Given the description of an element on the screen output the (x, y) to click on. 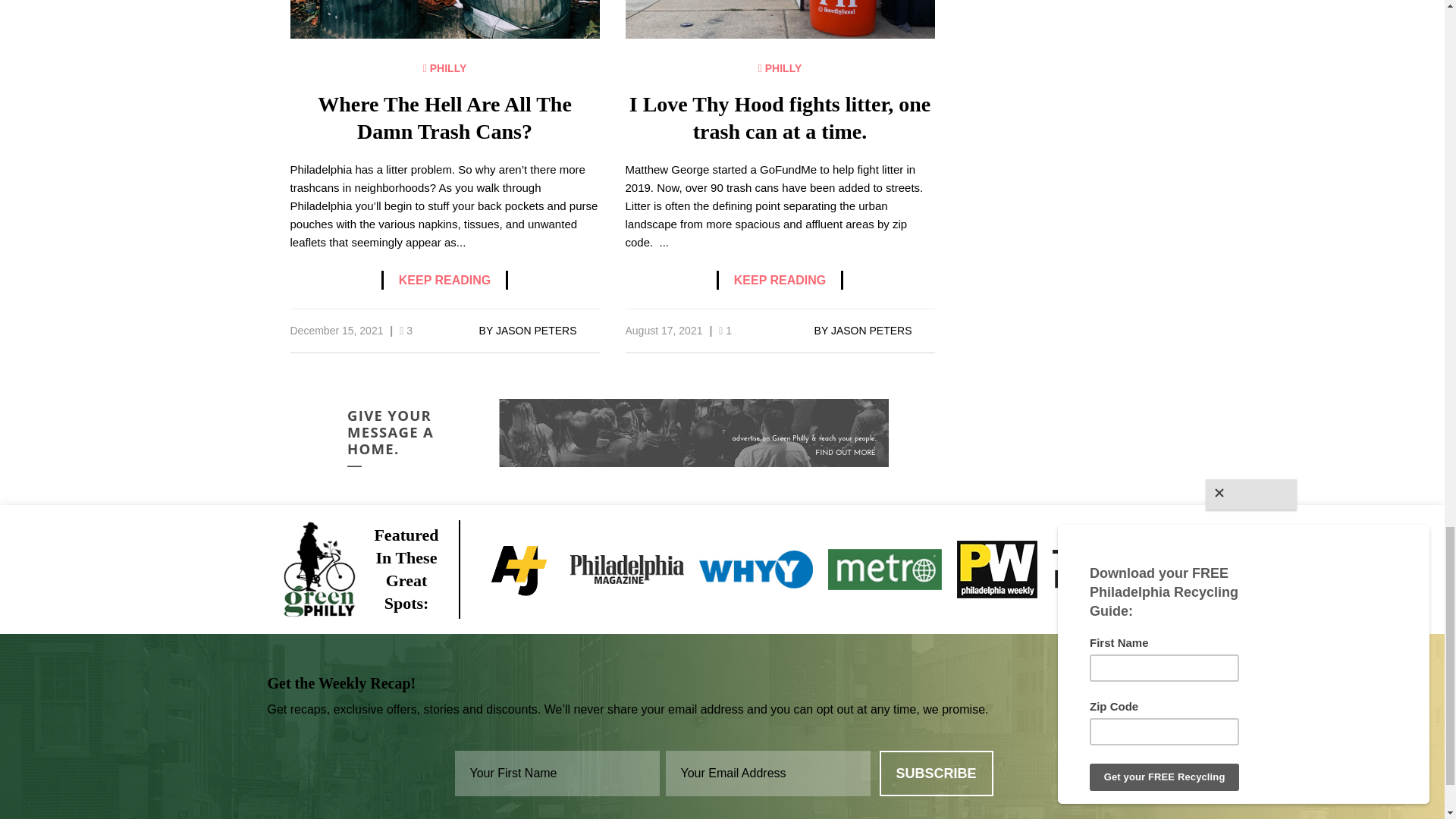
Subscribe (935, 773)
